Given the description of an element on the screen output the (x, y) to click on. 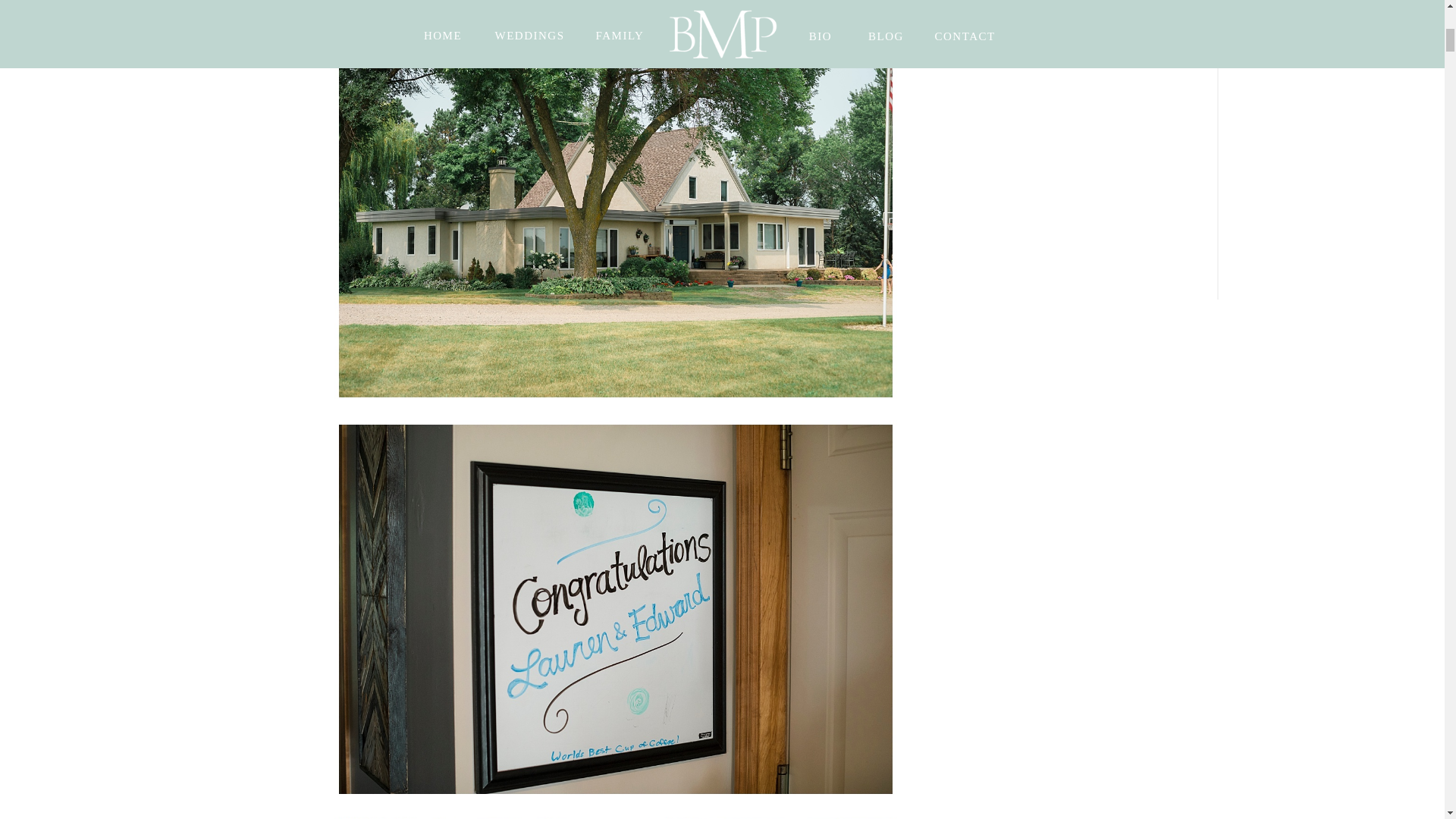
Ridges at Sand Creek (591, 3)
